Given the description of an element on the screen output the (x, y) to click on. 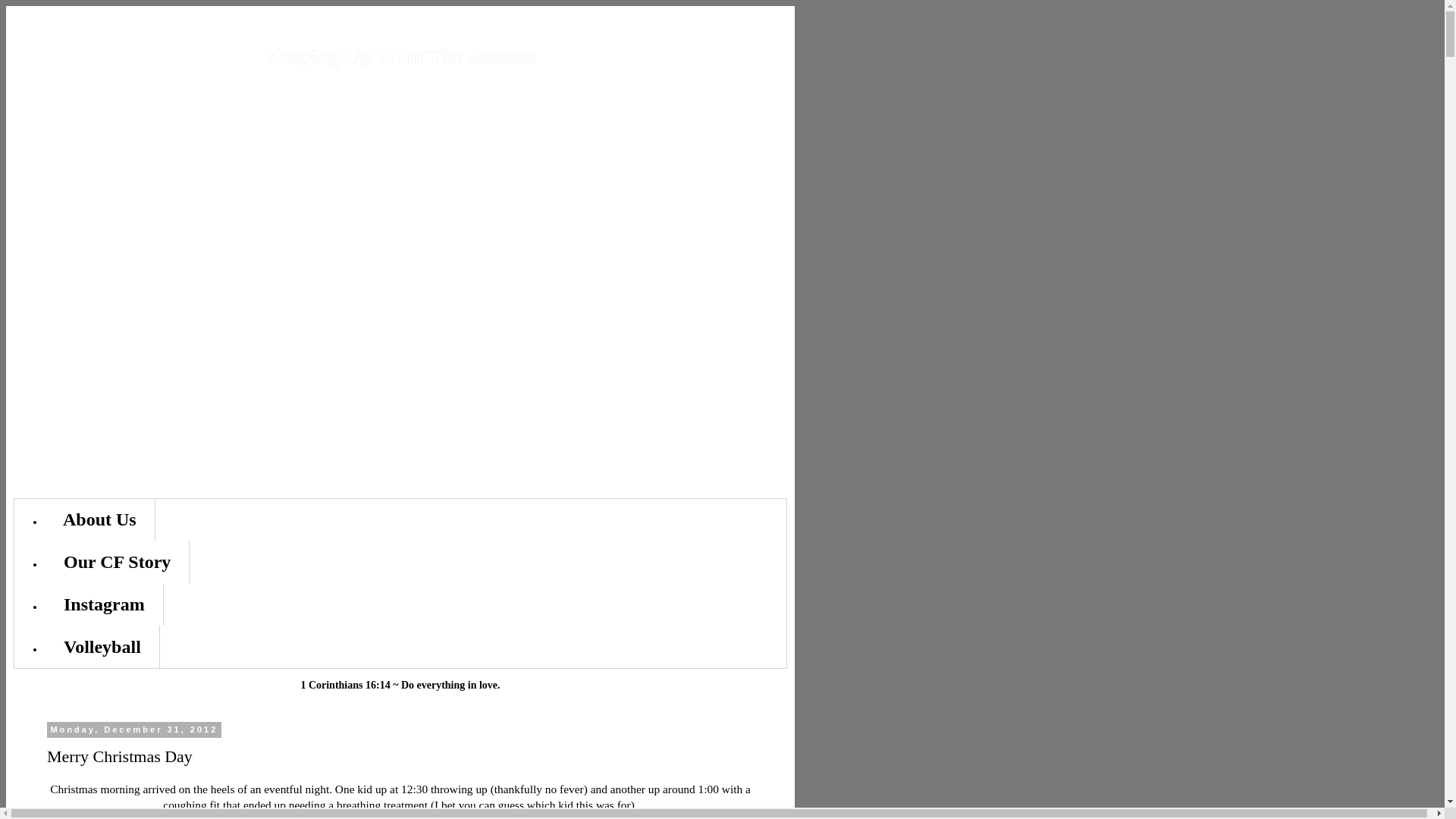
Volleyball (102, 646)
Our CF Story (117, 562)
Keeping Up With The Joneses (399, 56)
Instagram (104, 604)
About Us (100, 519)
